Given the description of an element on the screen output the (x, y) to click on. 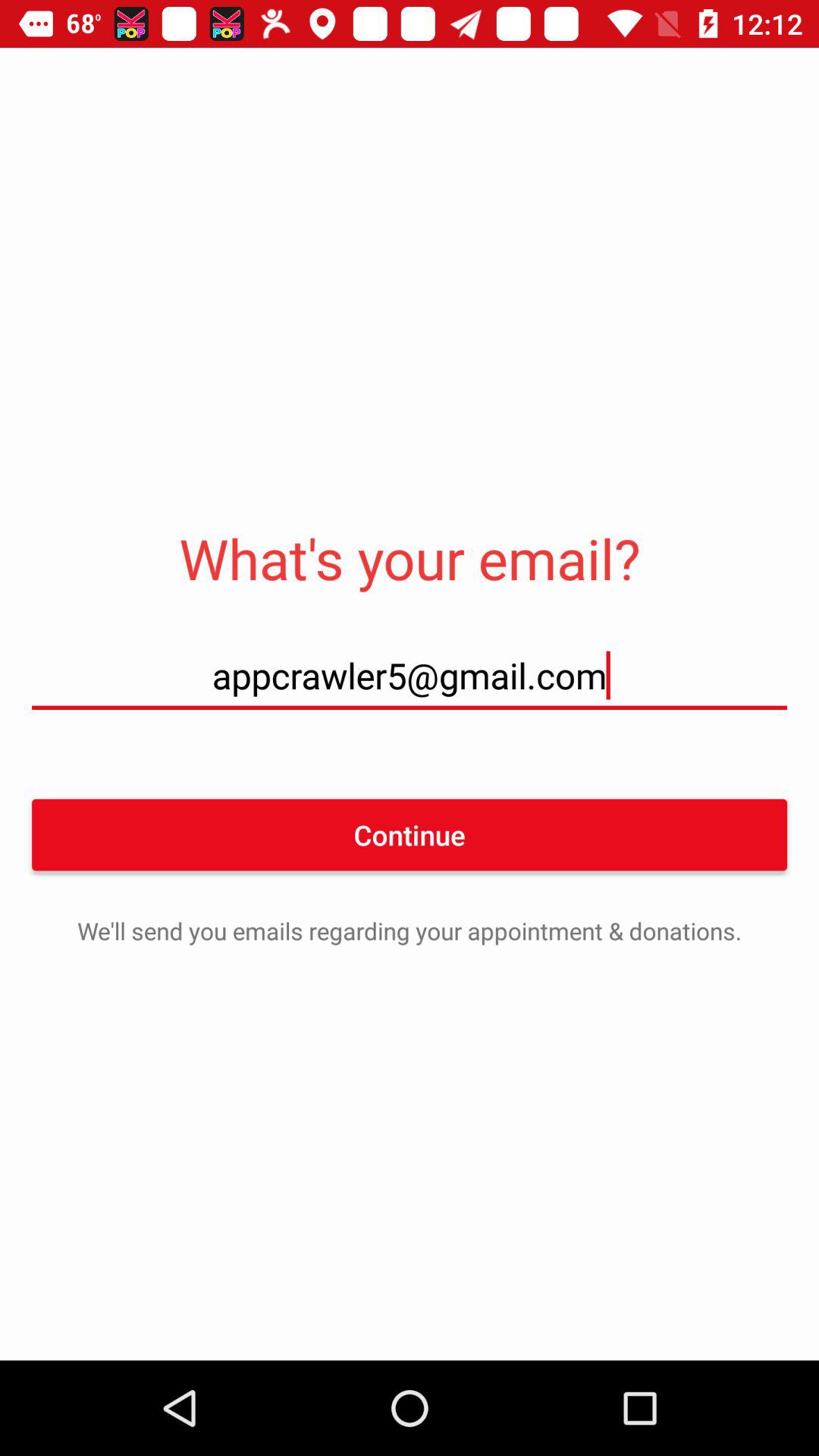
jump to the appcrawler5@gmail.com (409, 675)
